Given the description of an element on the screen output the (x, y) to click on. 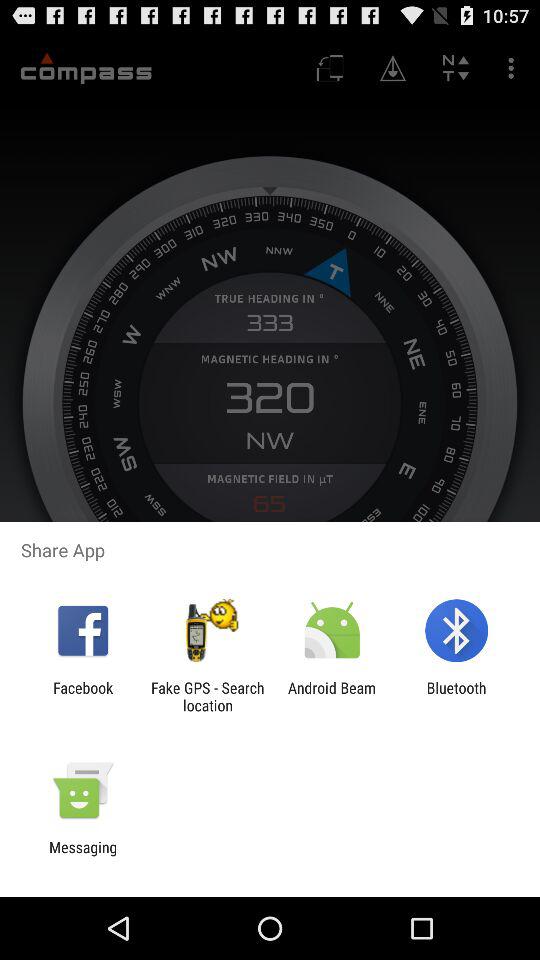
open the facebook icon (83, 696)
